Given the description of an element on the screen output the (x, y) to click on. 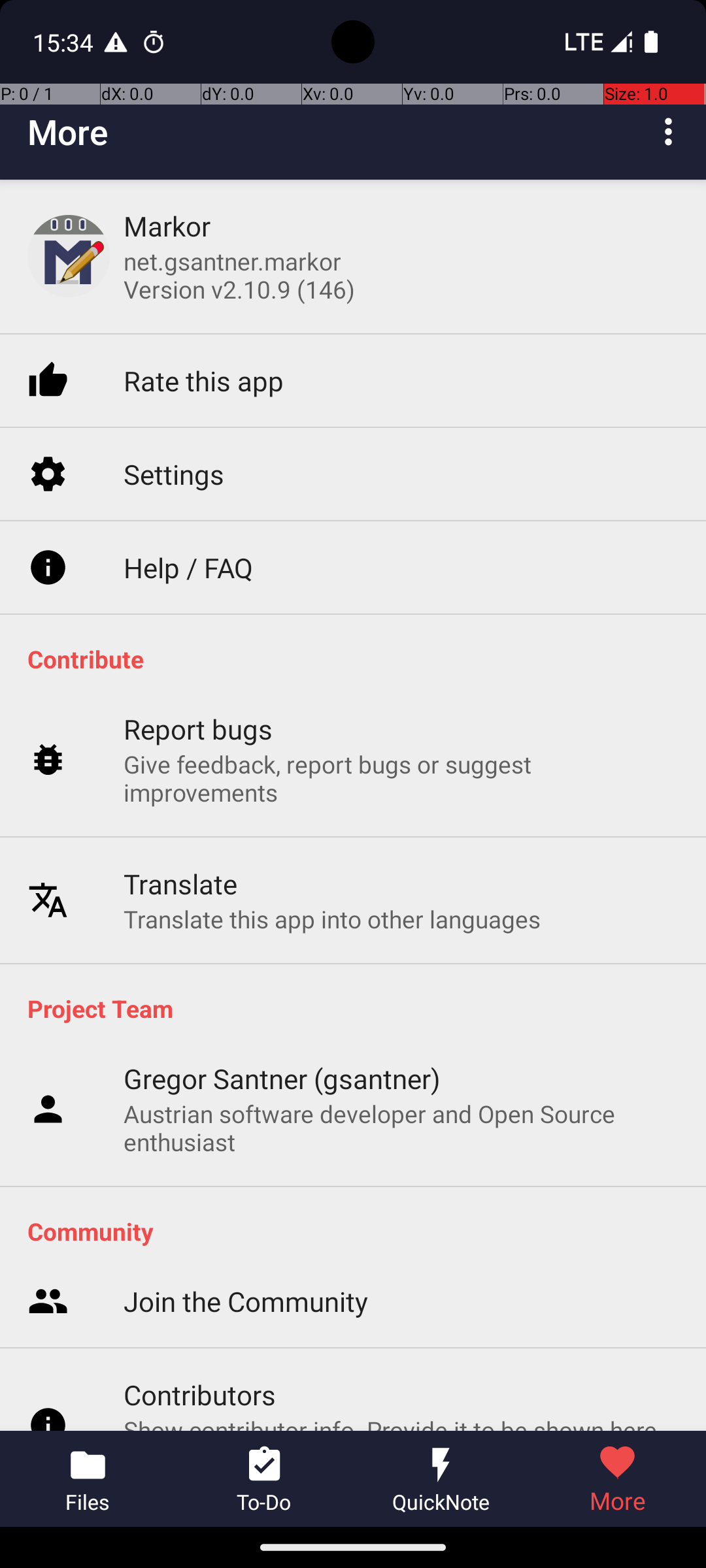
Contribute Element type: android.widget.TextView (359, 658)
Project Team Element type: android.widget.TextView (359, 1008)
Community Element type: android.widget.TextView (359, 1230)
net.gsantner.markor
Version v2.10.9 (146) Element type: android.widget.TextView (239, 274)
Rate this app Element type: android.widget.TextView (203, 339)
Help / FAQ Element type: android.widget.TextView (188, 544)
Report bugs Element type: android.widget.TextView (198, 705)
Give feedback, report bugs or suggest improvements Element type: android.widget.TextView (400, 754)
Translate Element type: android.widget.TextView (180, 859)
Translate this app into other languages Element type: android.widget.TextView (331, 895)
Gregor Santner (gsantner) Element type: android.widget.TextView (281, 1077)
Austrian software developer and Open Source enthusiast Element type: android.widget.TextView (400, 1127)
Join the Community Element type: android.widget.TextView (245, 1245)
Contributors Element type: android.widget.TextView (199, 1337)
Show contributor info. Provide it to be shown here on an opt-in basis after contributing Element type: android.widget.TextView (400, 1387)
